Given the description of an element on the screen output the (x, y) to click on. 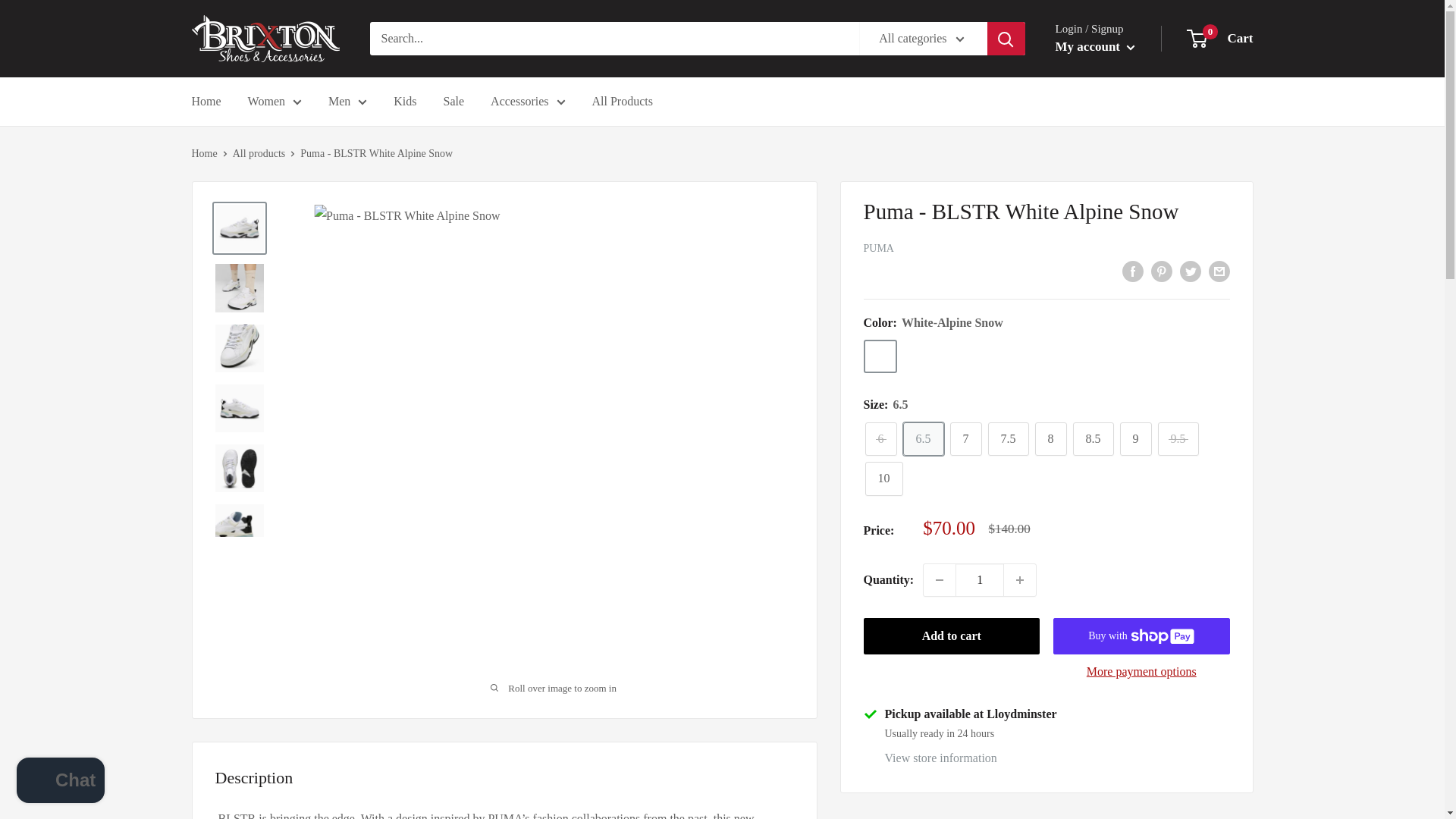
6 (880, 439)
Shopify online store chat (60, 781)
8.5 (1092, 439)
Decrease quantity by 1 (939, 580)
White-Alpine Snow (879, 356)
6.5 (922, 439)
Brixton Shoes and Accessories (264, 38)
10 (883, 478)
9 (1135, 439)
Increase quantity by 1 (1019, 580)
1 (979, 580)
7.5 (1007, 439)
9.5 (1177, 439)
7 (965, 439)
8 (1049, 439)
